Given the description of an element on the screen output the (x, y) to click on. 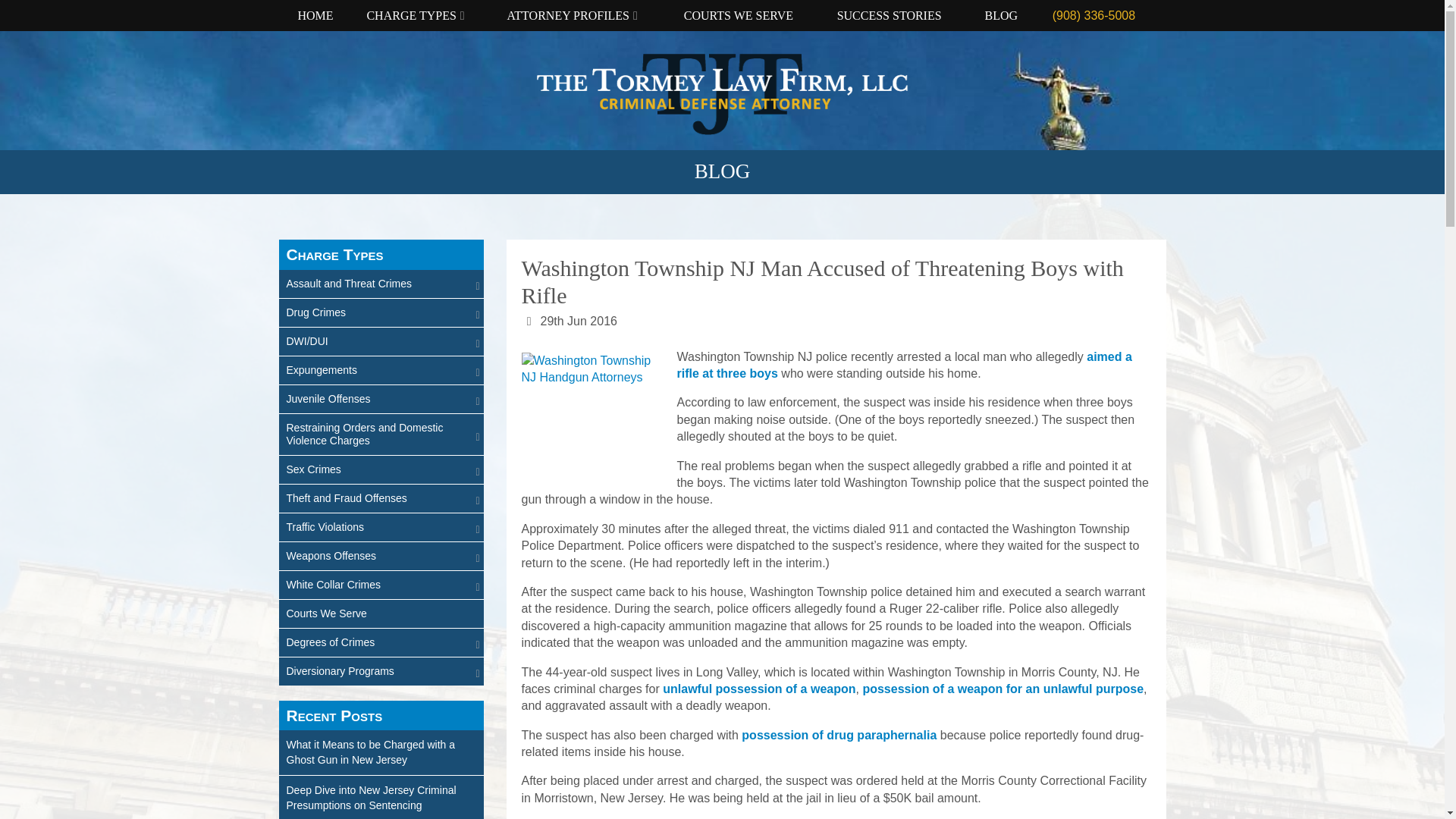
unlawful possession of a weapon (759, 688)
Assault and Threat Crimes (381, 284)
Washington Township NJ Handgun Attorneys (591, 414)
CHARGE TYPES (422, 15)
possession of a weapon for an unlawful purpose (1001, 688)
possession of drug paraphernalia (838, 735)
ATTORNEY PROFILES (581, 15)
HOME (324, 15)
aimed a rifle at three boys (904, 365)
SUCCESS STORIES (897, 15)
COURTS WE SERVE (746, 15)
BLOG (1005, 15)
